Given the description of an element on the screen output the (x, y) to click on. 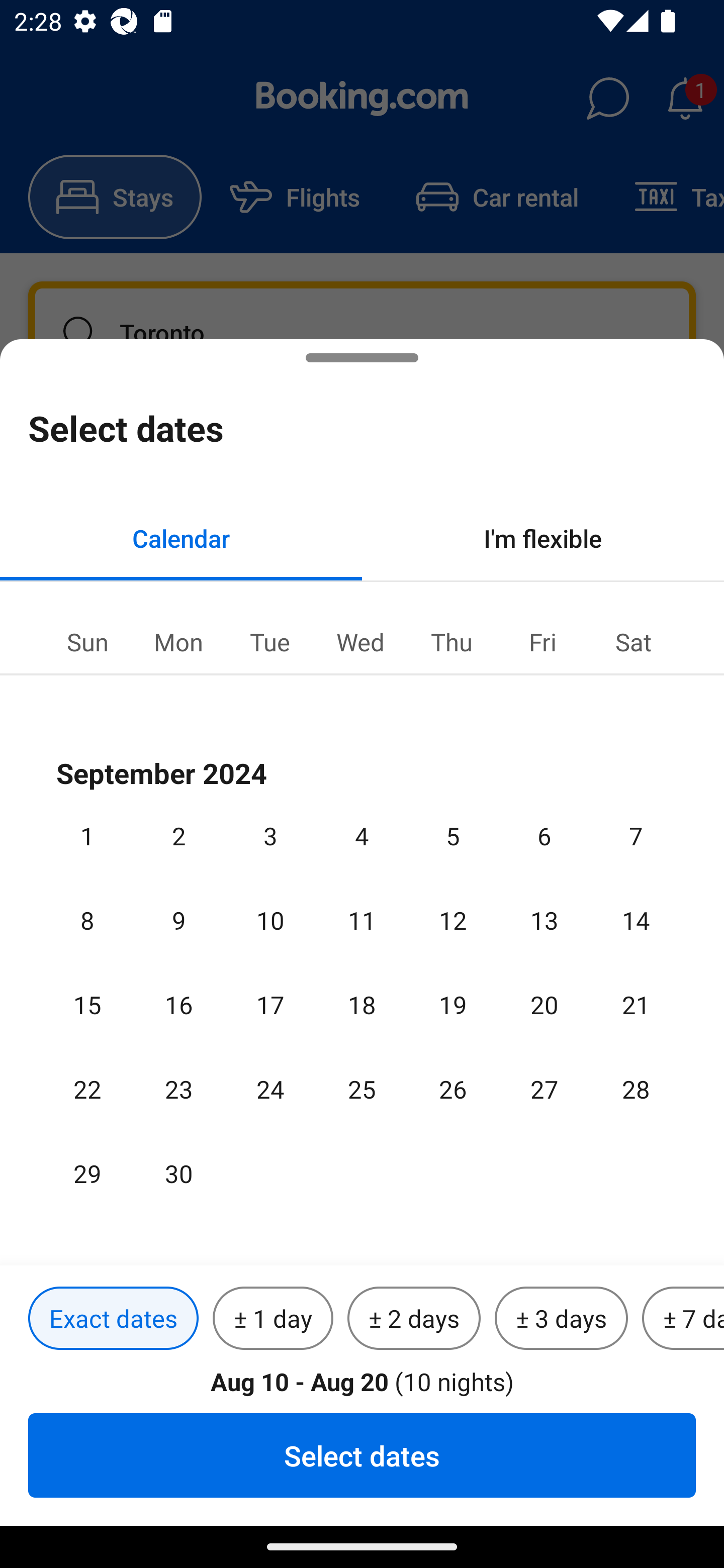
I'm flexible (543, 537)
Exact dates (113, 1318)
± 1 day (272, 1318)
± 2 days (413, 1318)
± 3 days (560, 1318)
± 7 days (683, 1318)
Select dates (361, 1454)
